Given the description of an element on the screen output the (x, y) to click on. 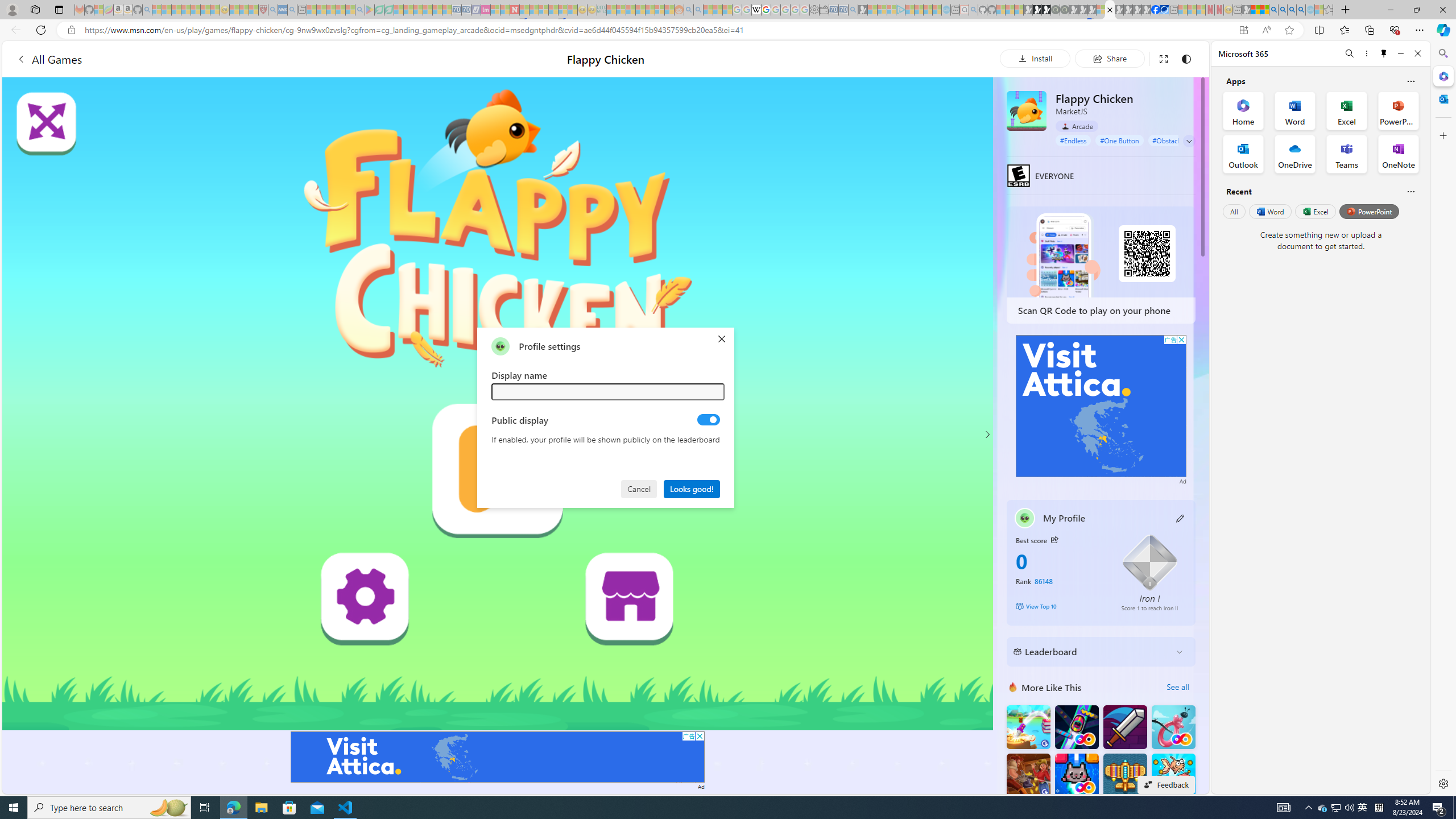
Local - MSN - Sleeping (253, 9)
Install (1034, 58)
Cancel (639, 488)
Class: button edit-icon (1180, 517)
Unpin side pane (1383, 53)
Share (1109, 58)
